Given the description of an element on the screen output the (x, y) to click on. 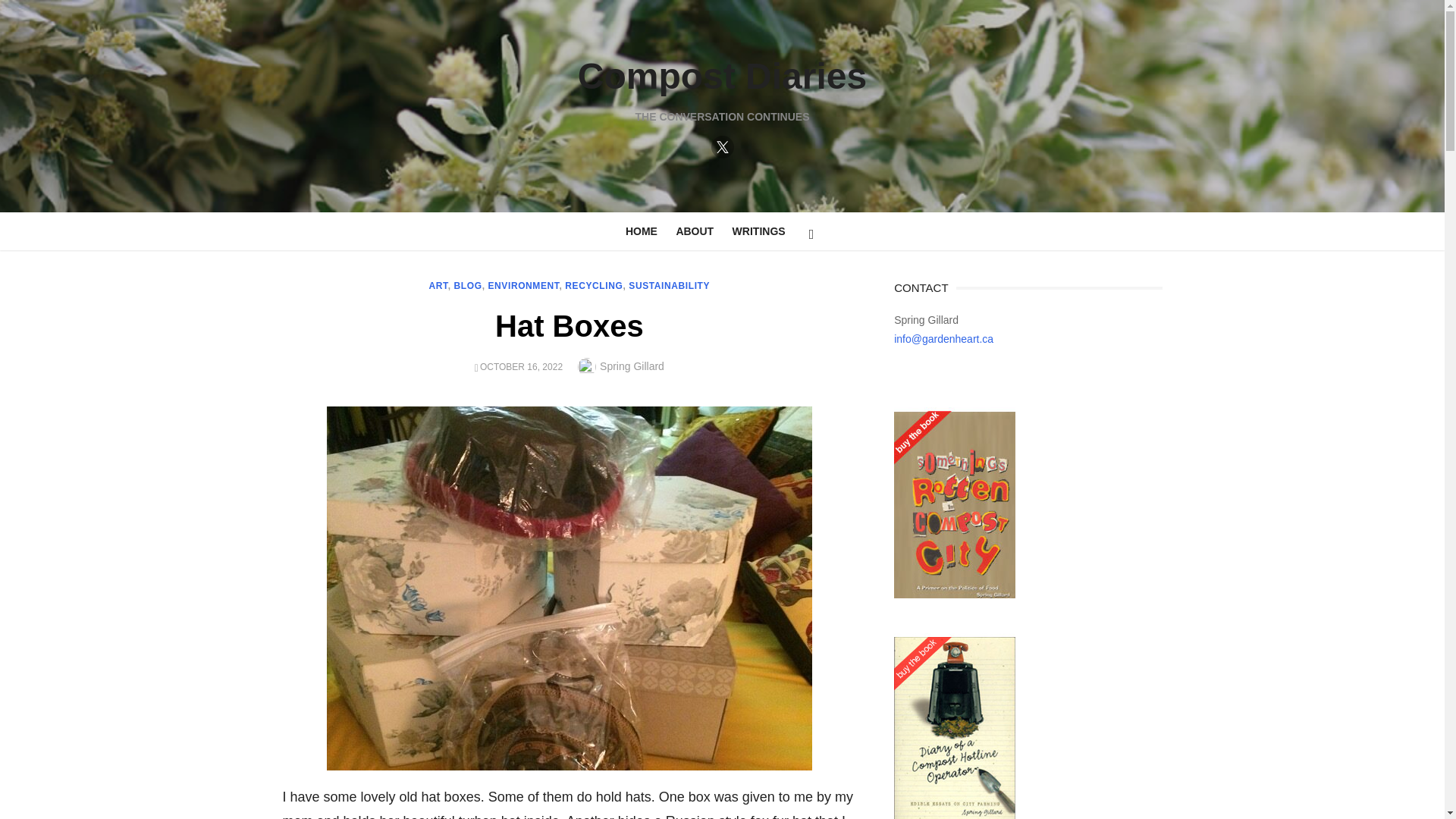
ENVIRONMENT (523, 285)
ART (438, 285)
BLOG (467, 285)
OCTOBER 16, 2022 (521, 366)
Twitter (722, 146)
HOME (641, 231)
RECYCLING (593, 285)
WRITINGS (759, 231)
ABOUT (694, 231)
SUSTAINABILITY (669, 285)
Compost Diaries (722, 76)
Spring Gillard (631, 366)
